Given the description of an element on the screen output the (x, y) to click on. 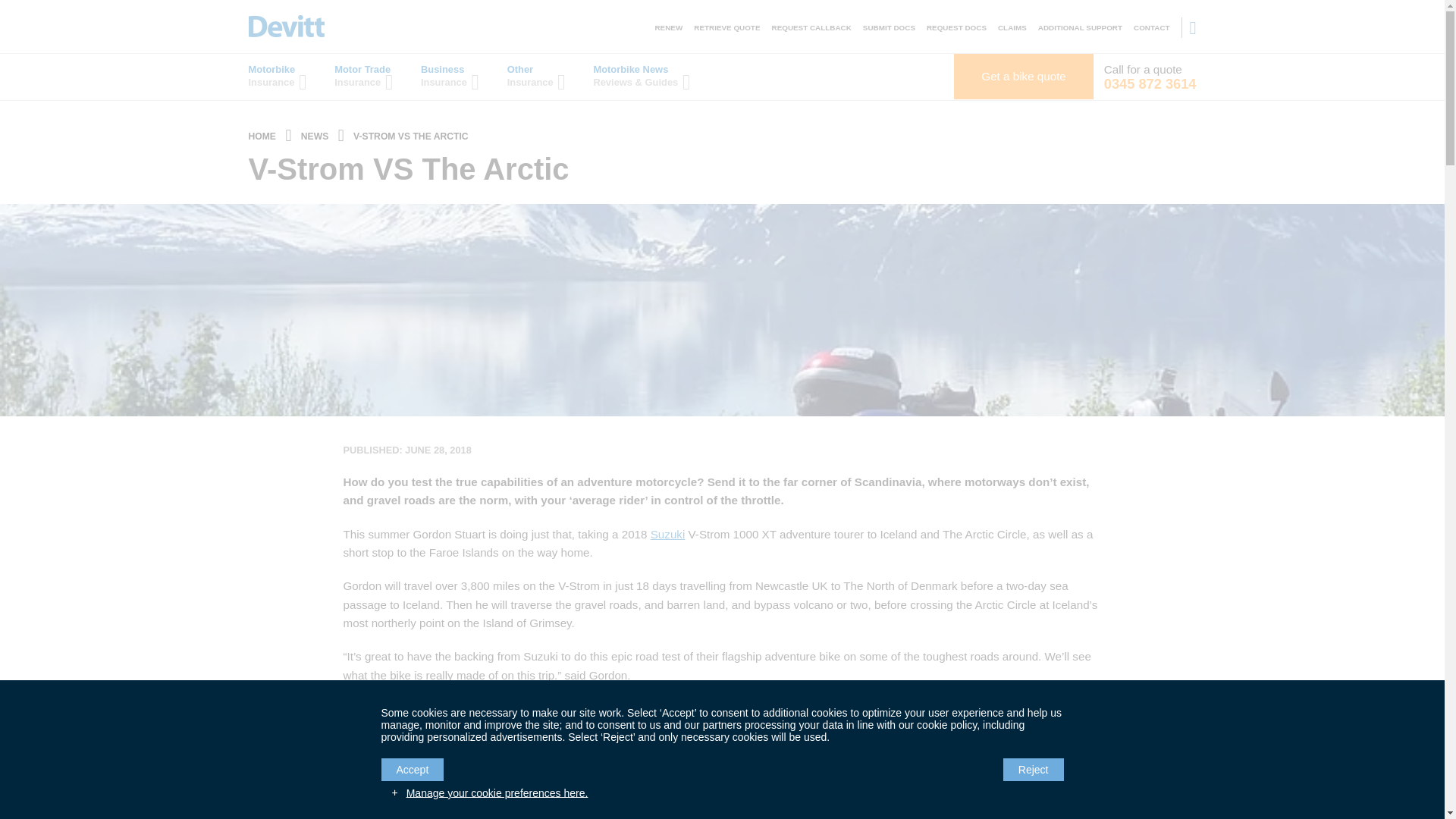
REQUEST CALLBACK (811, 27)
Return to Devitt Insurance homepage (286, 26)
ADDITIONAL SUPPORT (1080, 27)
REQUEST DOCS (956, 27)
Return to Devitt Insurance homepage (262, 136)
RETRIEVE QUOTE (727, 27)
RENEW (667, 27)
CONTACT (1152, 27)
CLAIMS (1011, 27)
SUBMIT DOCS (889, 27)
